Given the description of an element on the screen output the (x, y) to click on. 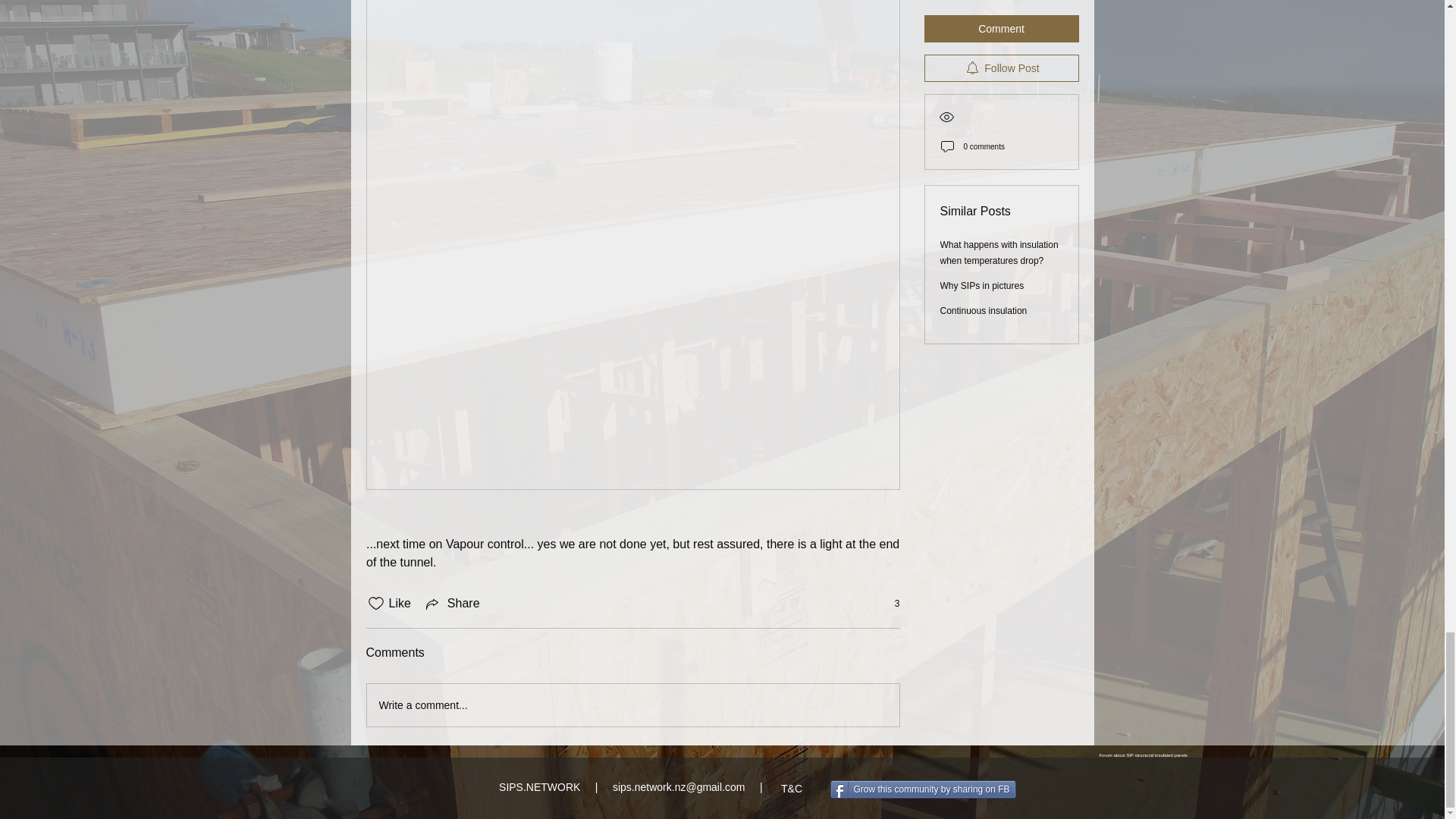
Grow this community by sharing on FB (921, 789)
Grow this community by sharing on FB (921, 789)
3 (888, 603)
Write a comment... (632, 704)
Share (451, 603)
